Given the description of an element on the screen output the (x, y) to click on. 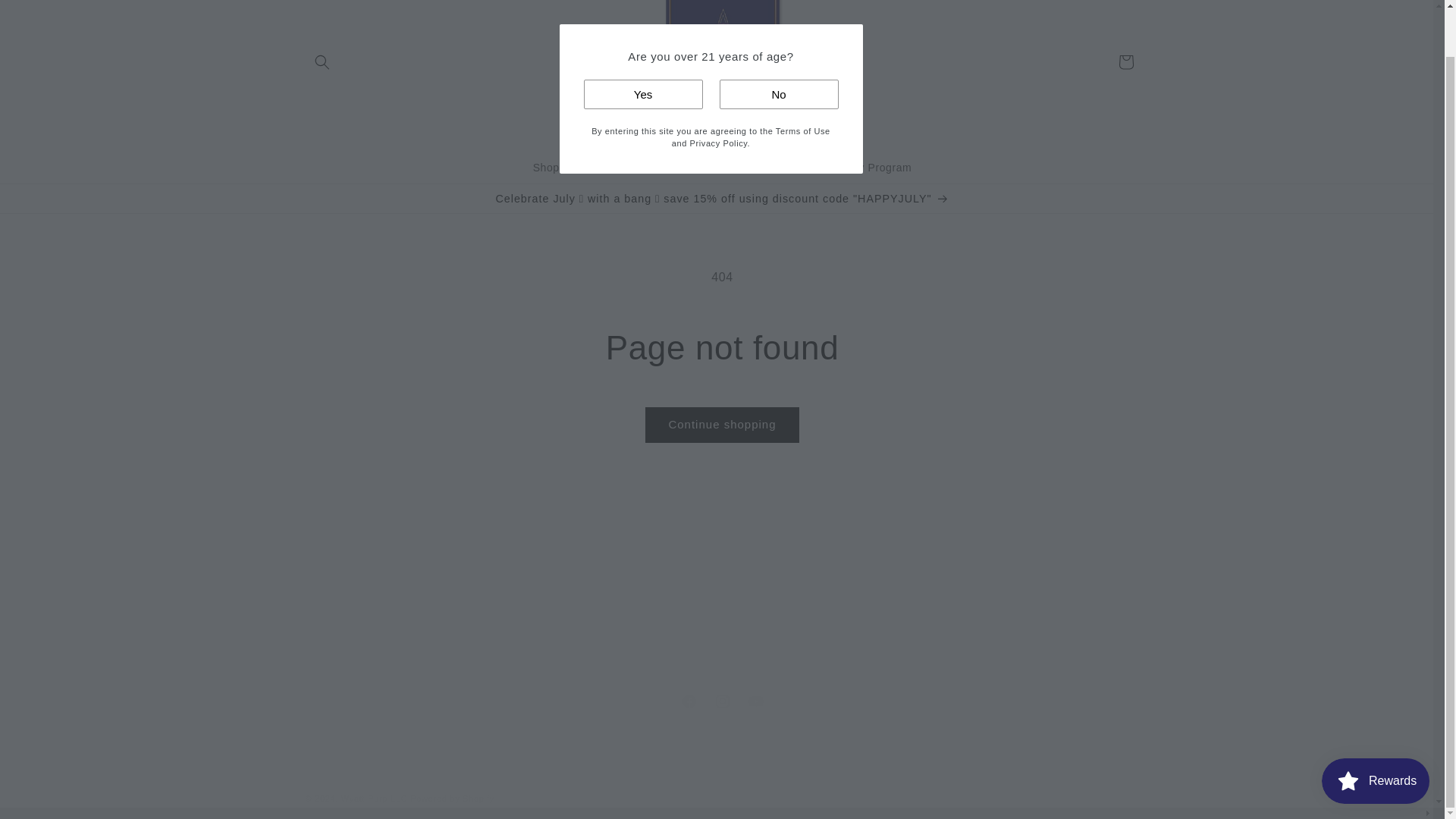
Yes (643, 44)
No (778, 44)
Smile.io Rewards Program Launcher (721, 701)
